Given the description of an element on the screen output the (x, y) to click on. 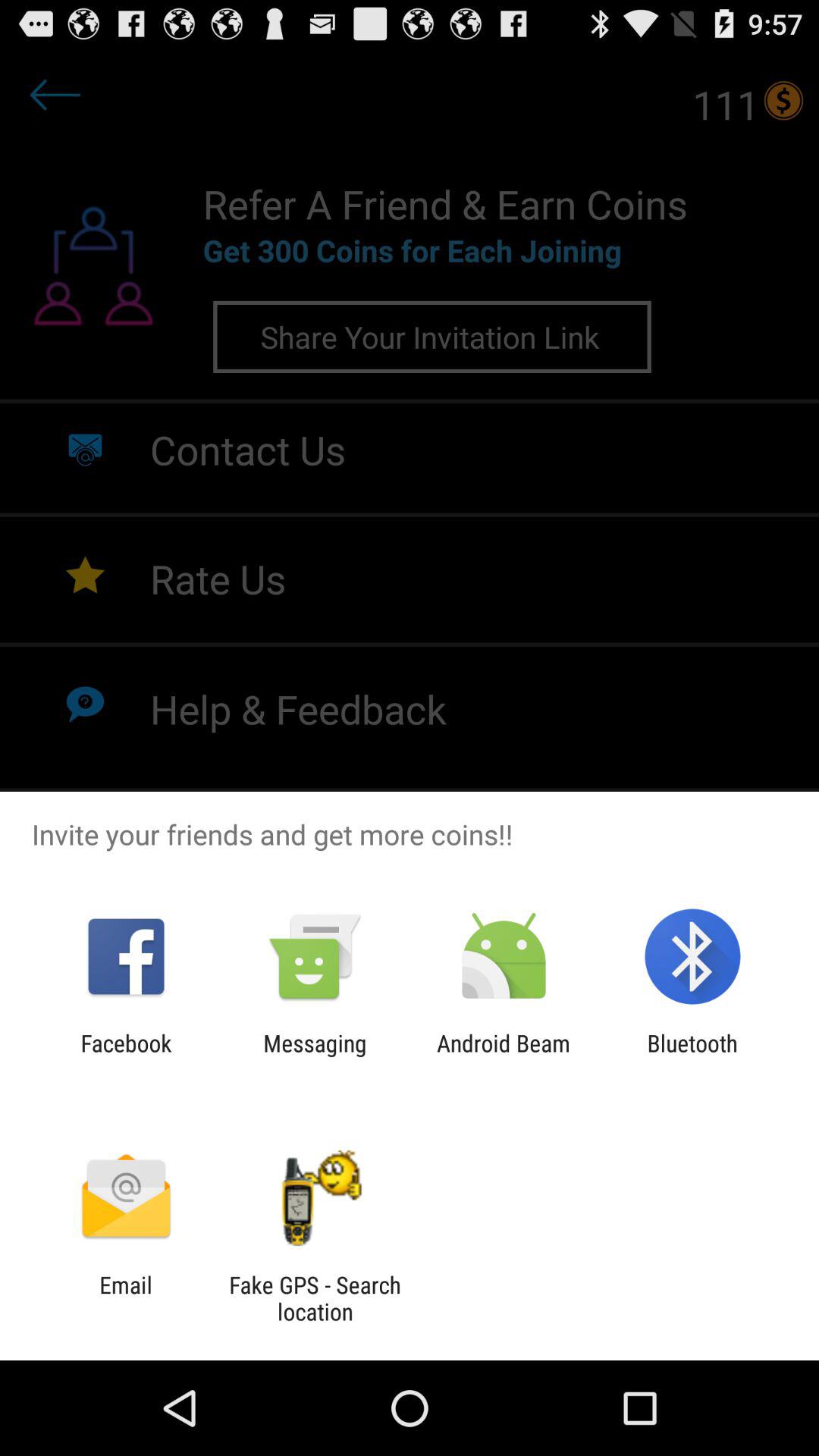
swipe until the facebook item (125, 1056)
